Given the description of an element on the screen output the (x, y) to click on. 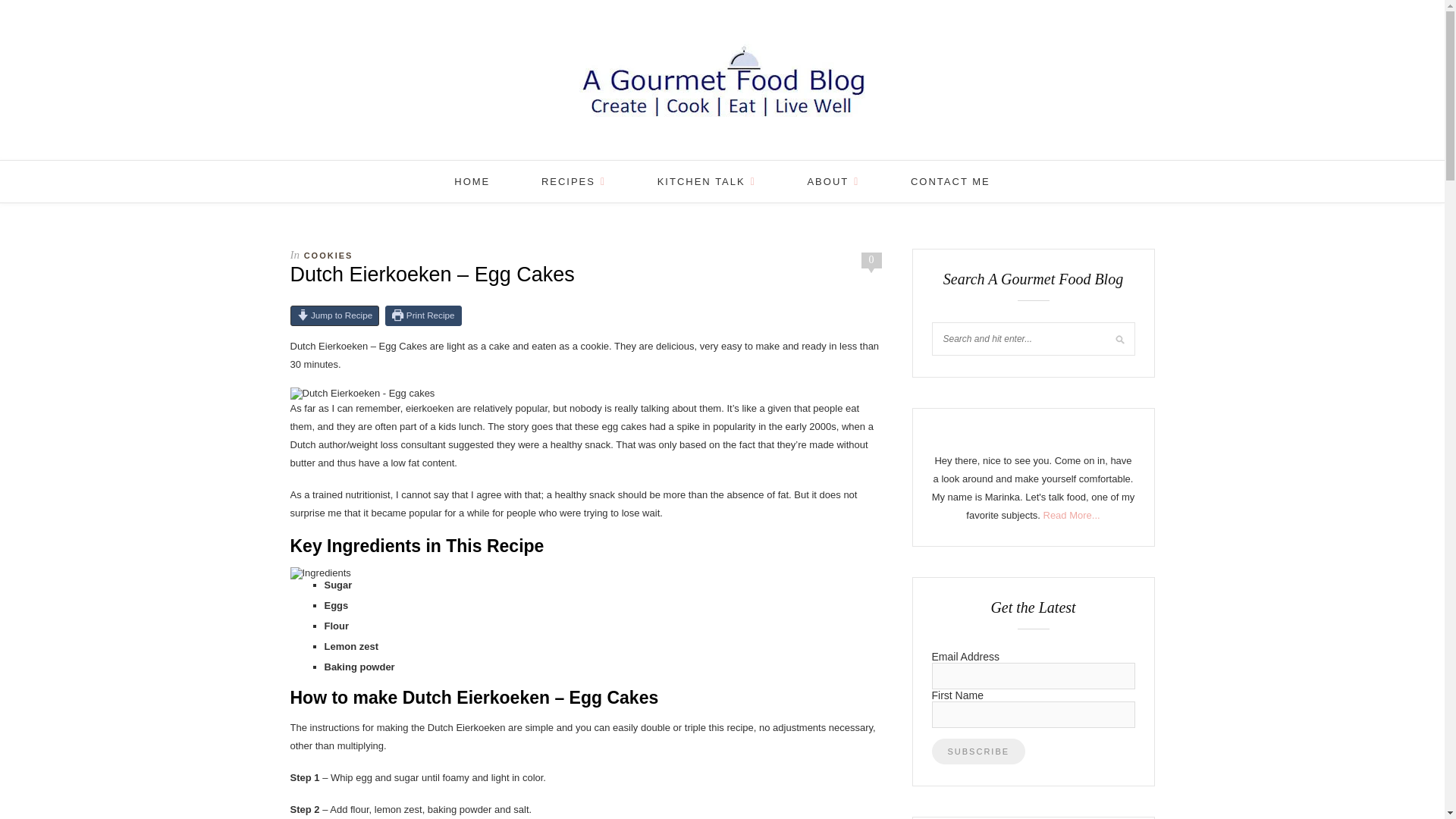
Print Recipe (423, 315)
RECIPES (573, 181)
ABOUT (832, 181)
KITCHEN TALK (706, 181)
Jump to Recipe (333, 315)
CONTACT ME (950, 181)
COOKIES (328, 255)
Subscribe (978, 751)
